Given the description of an element on the screen output the (x, y) to click on. 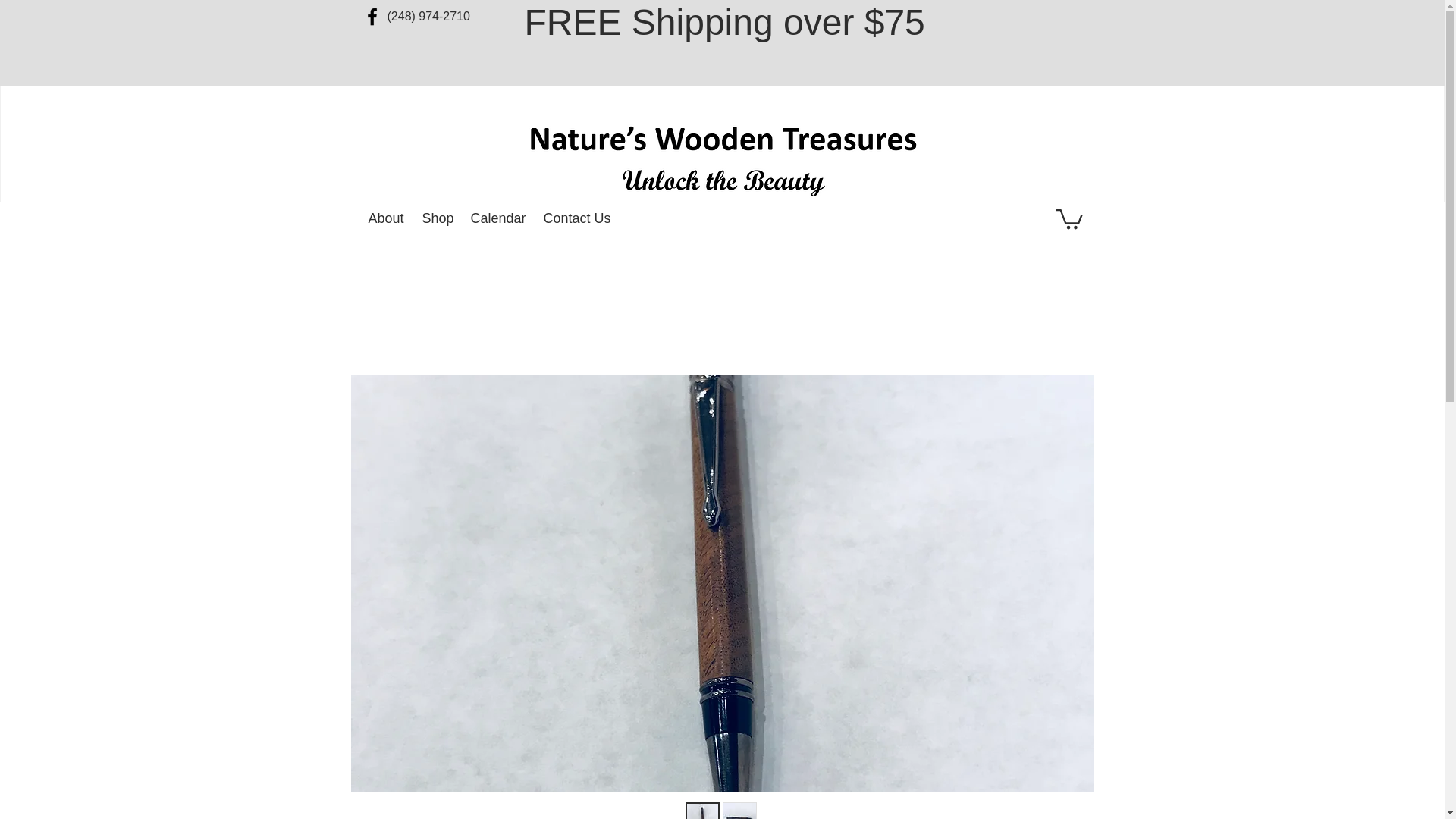
About (387, 218)
Shop (438, 218)
Contact Us (578, 218)
Capture.PNG (722, 159)
Calendar (499, 218)
